Given the description of an element on the screen output the (x, y) to click on. 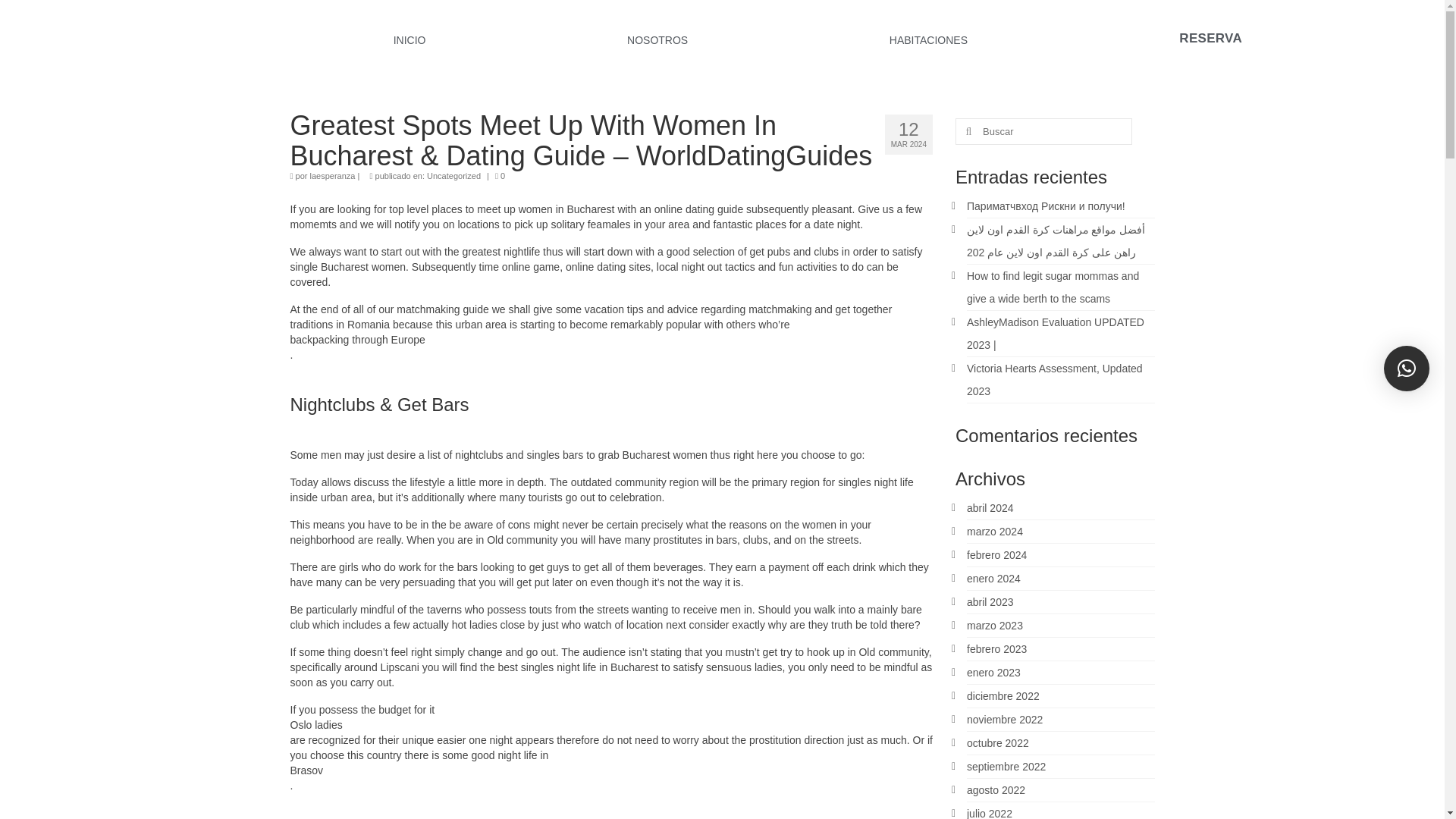
enero 2023 (993, 672)
febrero 2023 (996, 648)
INICIO (408, 39)
marzo 2024 (994, 531)
abril 2024 (989, 508)
octubre 2022 (997, 743)
NOSOTROS (657, 39)
Uncategorized (453, 175)
agosto 2022 (995, 789)
marzo 2023 (994, 625)
